Given the description of an element on the screen output the (x, y) to click on. 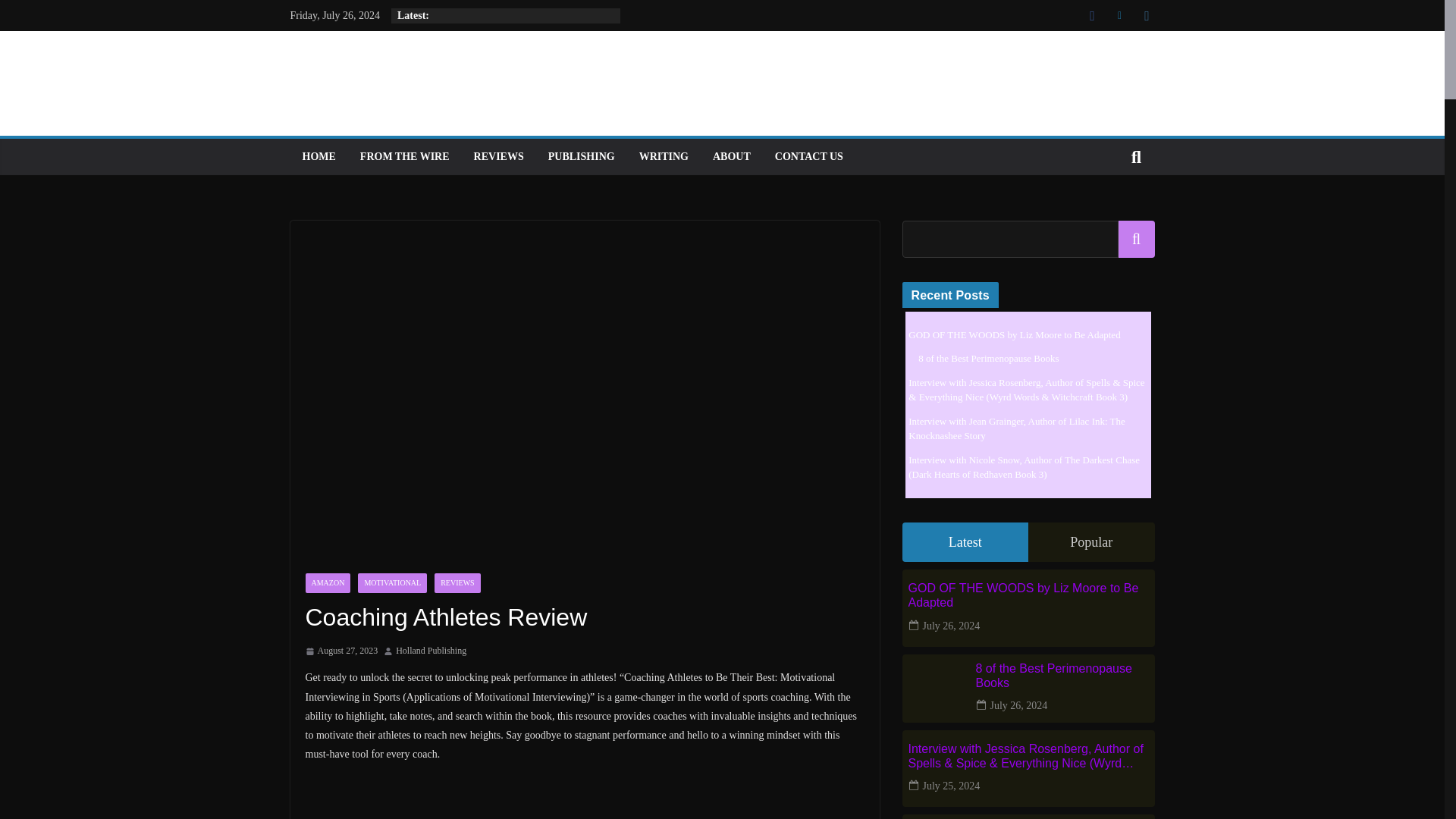
MOTIVATIONAL (392, 582)
ABOUT (732, 156)
REVIEWS (456, 582)
AMAZON (327, 582)
Holland Publishing (430, 651)
WRITING (663, 156)
CONTACT US (808, 156)
PUBLISHING (581, 156)
FROM THE WIRE (404, 156)
Holland Publishing (430, 651)
August 27, 2023 (340, 651)
12:56 am (340, 651)
REVIEWS (499, 156)
HOME (317, 156)
